Given the description of an element on the screen output the (x, y) to click on. 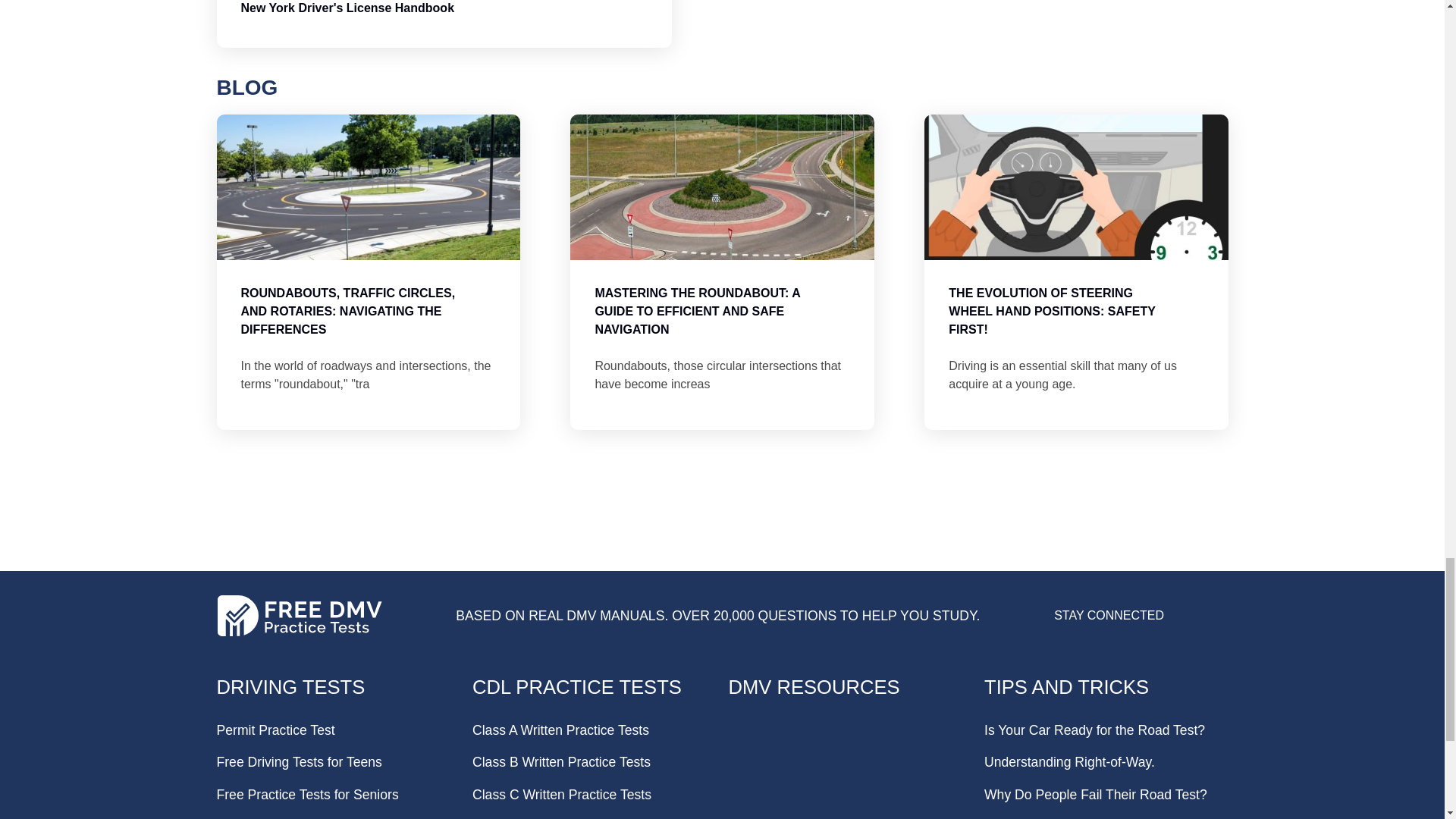
Free Permit Practice Test (275, 730)
Free DMV Practice Test (290, 686)
Permit Practice Test (275, 730)
DRIVING TESTS (290, 686)
Start your practice test now (721, 558)
Free Driving Tests for Teenagers (298, 762)
Twitter (1216, 621)
Start your practice test now (721, 558)
Free Driving Tests for Teens (298, 762)
Free Practice Tests for Seniors (307, 794)
Facebook (1183, 621)
